Given the description of an element on the screen output the (x, y) to click on. 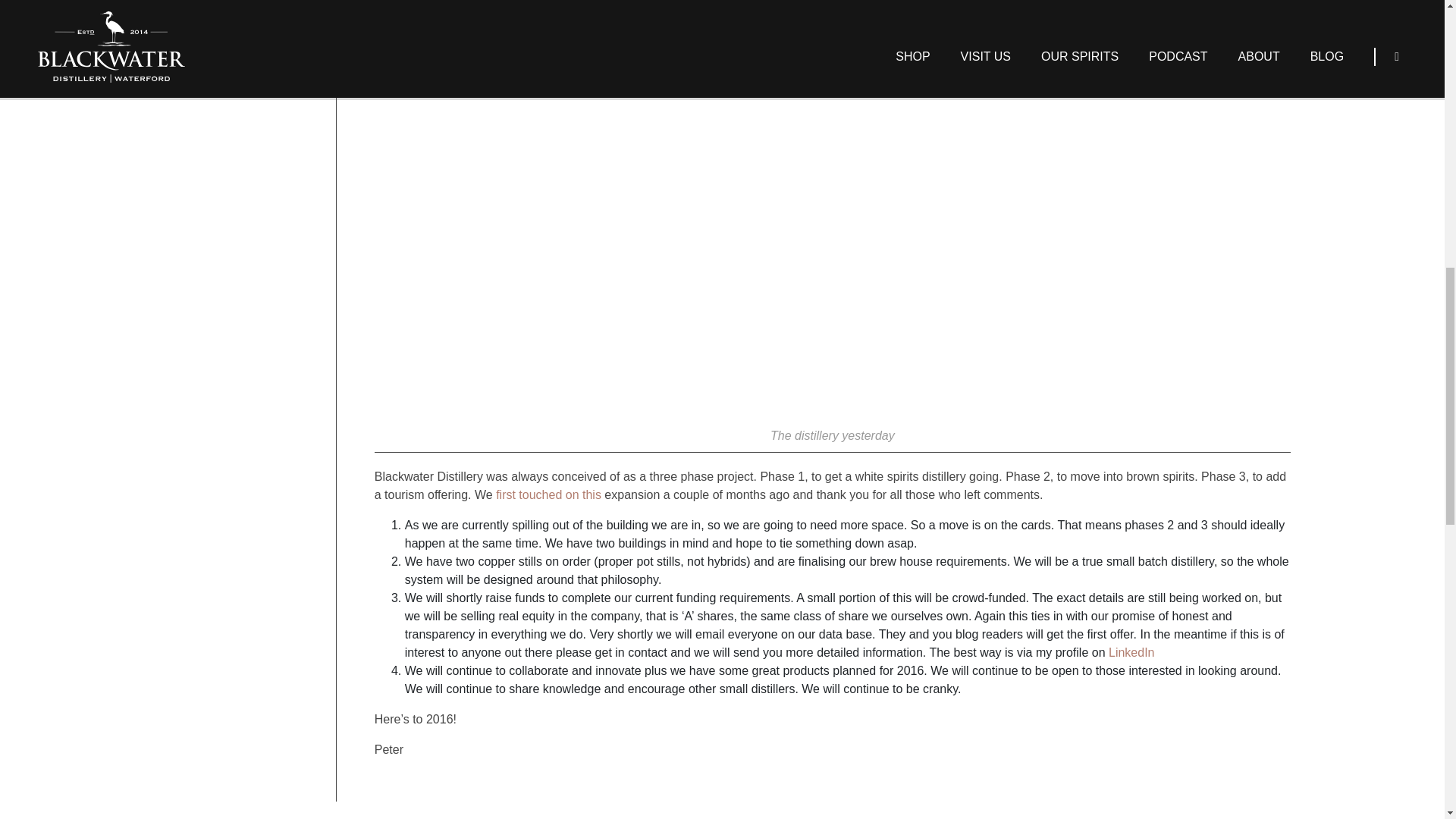
first touched on this (548, 494)
LinkedIn (1131, 652)
